Given the description of an element on the screen output the (x, y) to click on. 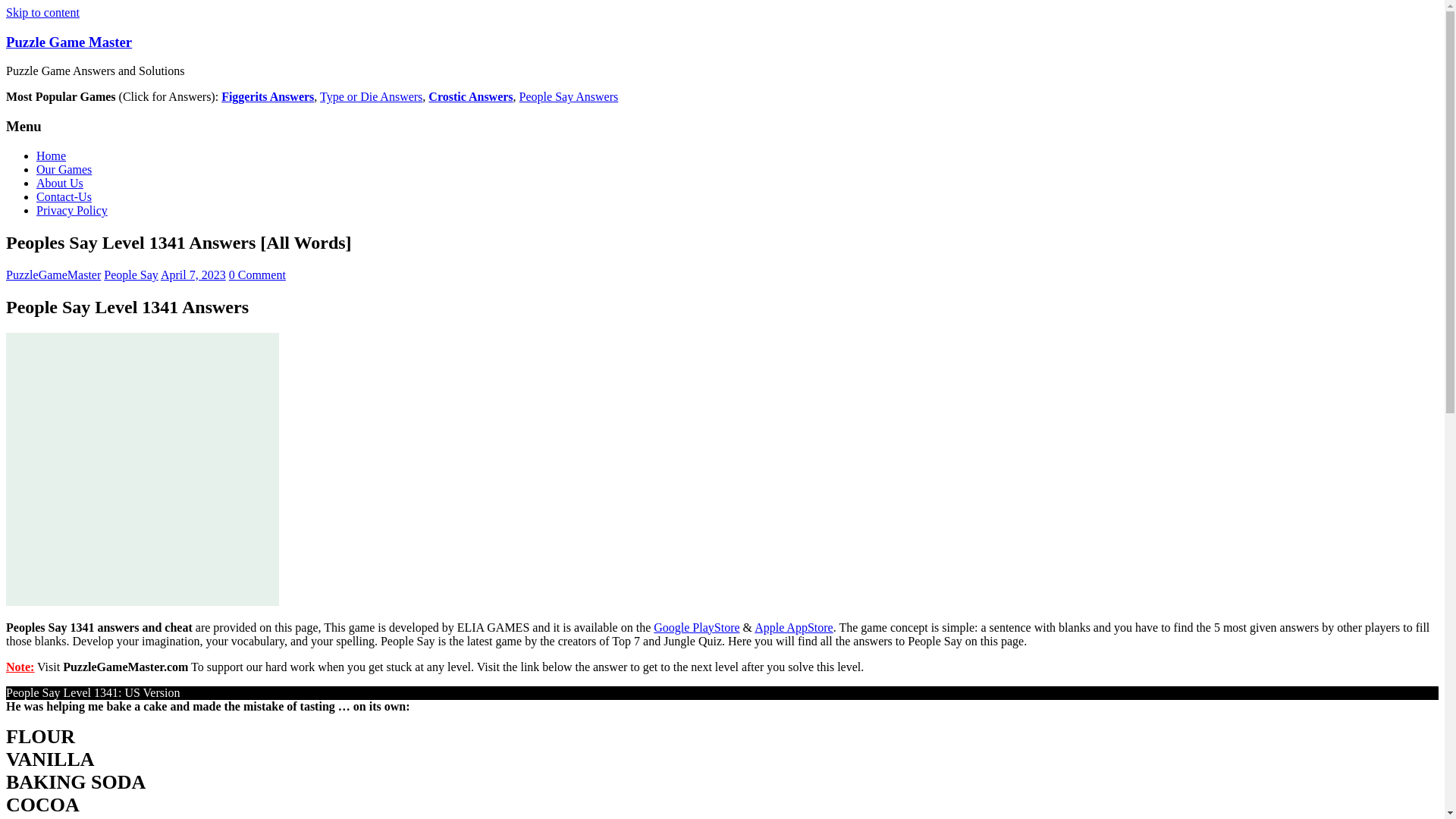
Contact-Us (63, 196)
06:09 (192, 274)
Home (50, 155)
Privacy Policy (71, 210)
Our Games (63, 169)
PuzzleGameMaster (52, 274)
April 7, 2023 (192, 274)
Apple AppStore (793, 626)
Puzzle Game Master (68, 41)
0 Comment (256, 274)
People Say Answers (568, 96)
Skip to content (42, 11)
Crostic Answers (470, 96)
Type or Die Answers (371, 96)
Puzzle Game Master (68, 41)
